Given the description of an element on the screen output the (x, y) to click on. 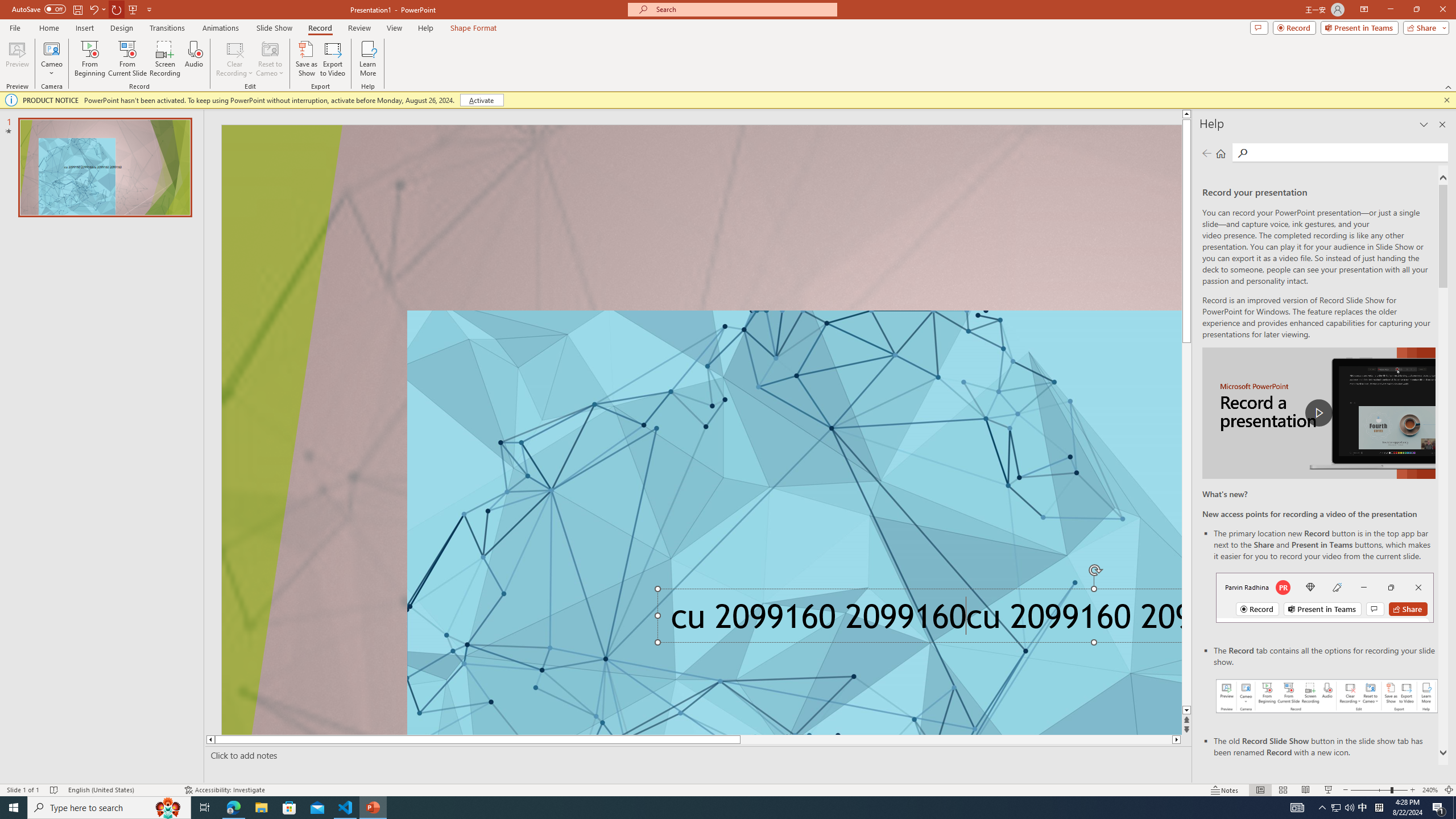
TextBox 61 (916, 620)
Record your presentations screenshot one (1326, 695)
